Given the description of an element on the screen output the (x, y) to click on. 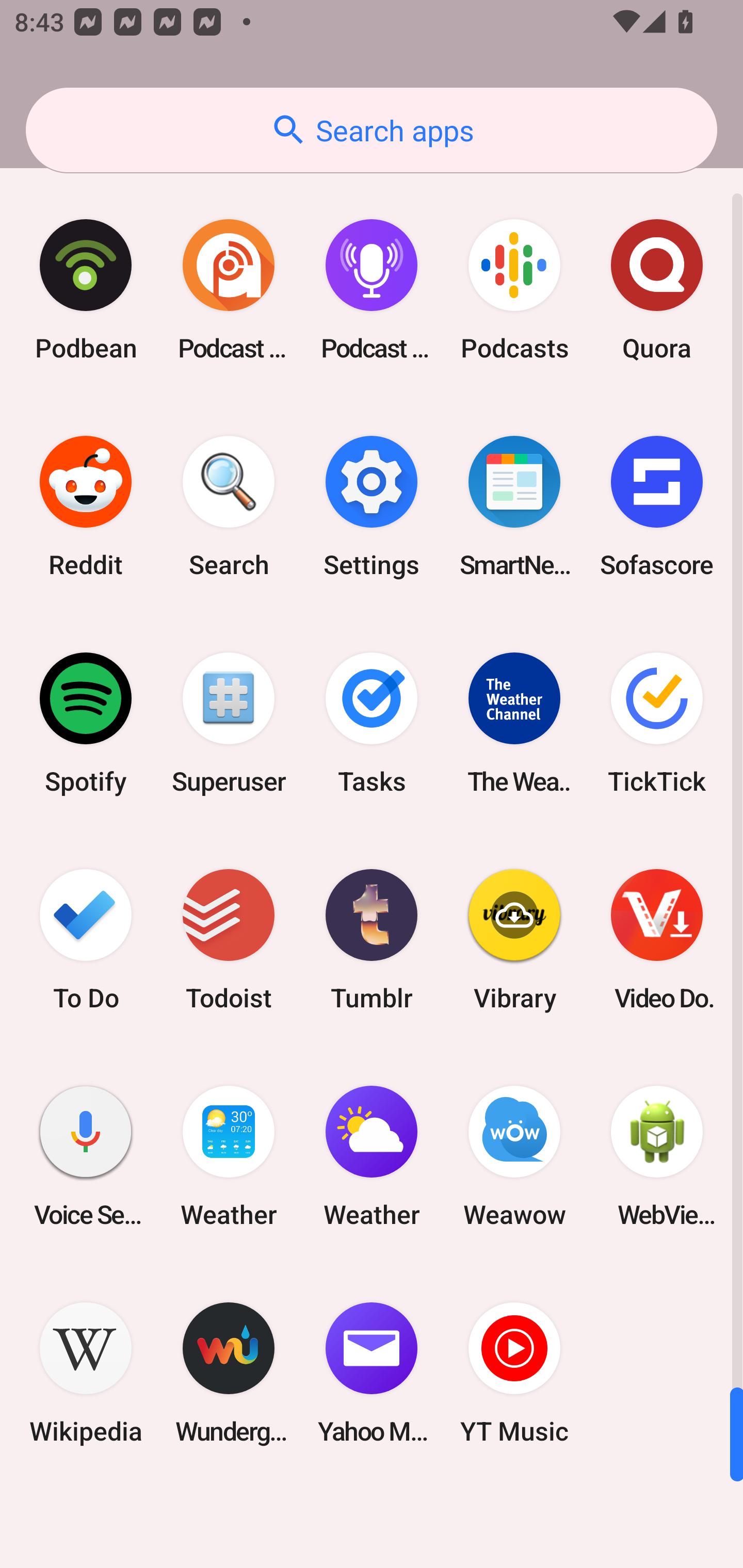
  Search apps (371, 130)
Podbean (85, 289)
Podcast Addict (228, 289)
Podcast Player (371, 289)
Podcasts (514, 289)
Quora (656, 289)
Reddit (85, 506)
Search (228, 506)
Settings (371, 506)
SmartNews (514, 506)
Sofascore (656, 506)
Spotify (85, 722)
Superuser (228, 722)
Tasks (371, 722)
The Weather Channel (514, 722)
TickTick (656, 722)
To Do (85, 939)
Todoist (228, 939)
Tumblr (371, 939)
Vibrary (514, 939)
Video Downloader & Ace Player (656, 939)
Voice Search (85, 1156)
Weather (228, 1156)
Weather (371, 1156)
Weawow (514, 1156)
WebView Browser Tester (656, 1156)
Wikipedia (85, 1373)
Wunderground (228, 1373)
Yahoo Mail (371, 1373)
YT Music (514, 1373)
